Given the description of an element on the screen output the (x, y) to click on. 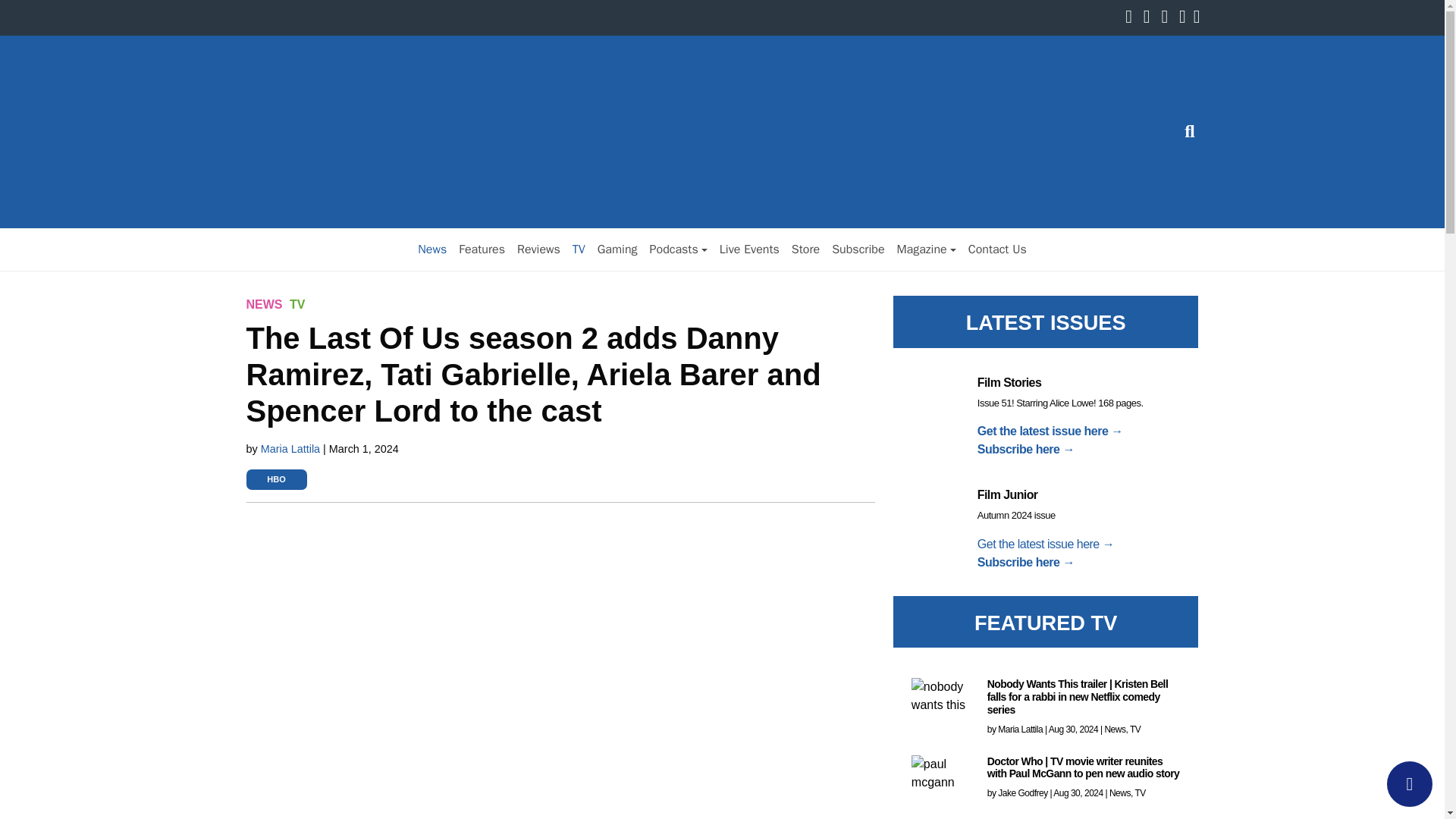
Features (481, 249)
Contact Us (997, 249)
Live Events (749, 249)
Follow us on Twitter (1149, 18)
Follow us on Instagram (1167, 18)
Gaming (617, 249)
Follow us on Facebook (1132, 18)
News (432, 249)
Subscribe (857, 249)
hbo (275, 479)
